Given the description of an element on the screen output the (x, y) to click on. 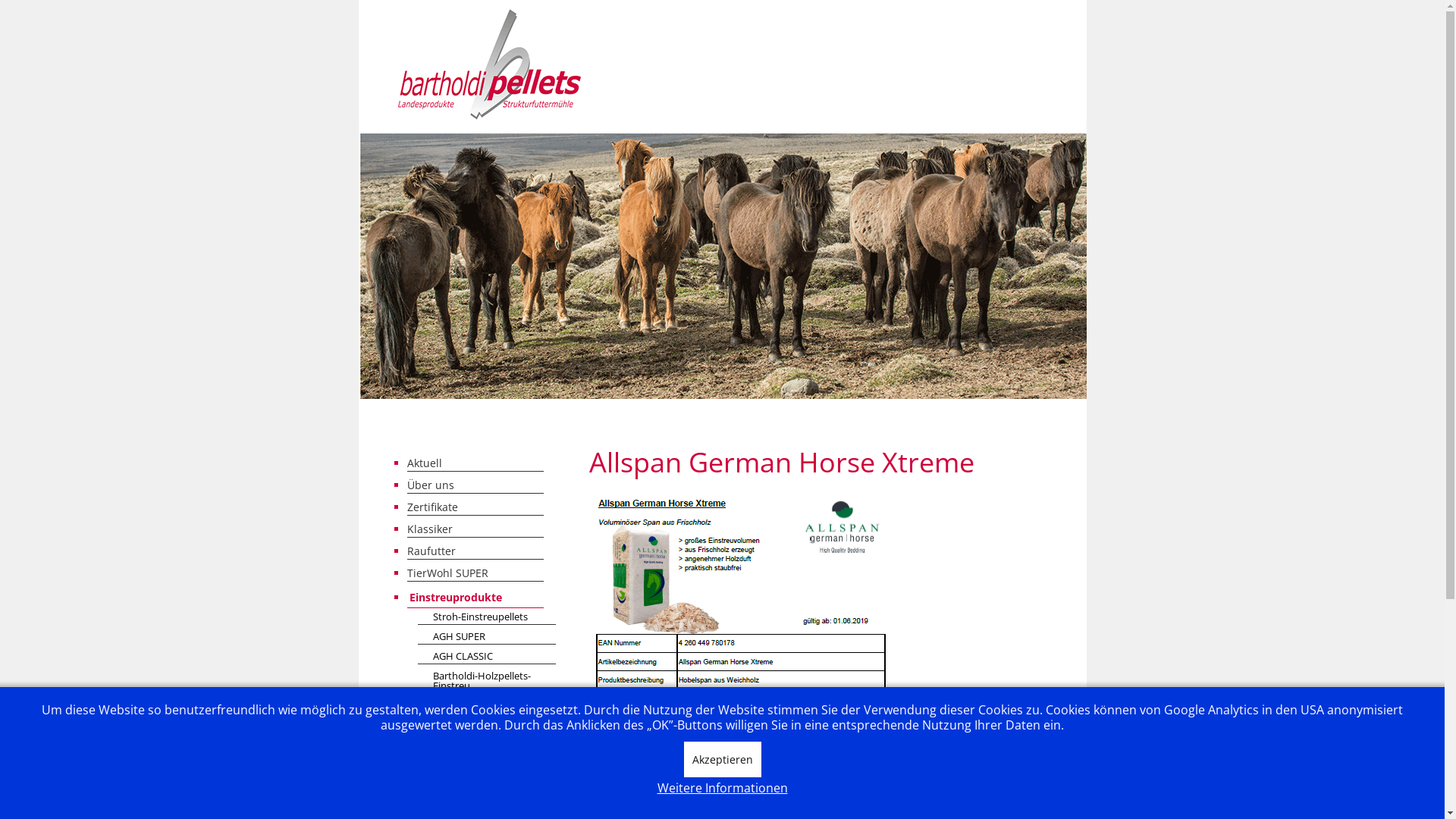
Leinenstroh Element type: text (486, 706)
AGH Mix Element type: text (486, 745)
AGH Xtreme Element type: text (486, 765)
Weitere Informationen Element type: text (721, 788)
Raufutter Element type: text (474, 550)
AGH Exquisit Element type: text (486, 785)
Einstreu-Preisliste Element type: text (474, 808)
Stroh-Einstreupellets Element type: text (486, 617)
Akzeptieren Element type: text (722, 759)
AGH CLASSIC Element type: text (486, 656)
AGH SUPER Element type: text (486, 637)
Zertifikate Element type: text (474, 506)
Aktuell Element type: text (474, 463)
TierWohl SUPER Element type: text (474, 572)
Klassiker Element type: text (474, 528)
Bartholdi-Holzpellets-Einstreu Element type: text (486, 681)
Einstreuprodukte Element type: text (474, 597)
